Given the description of an element on the screen output the (x, y) to click on. 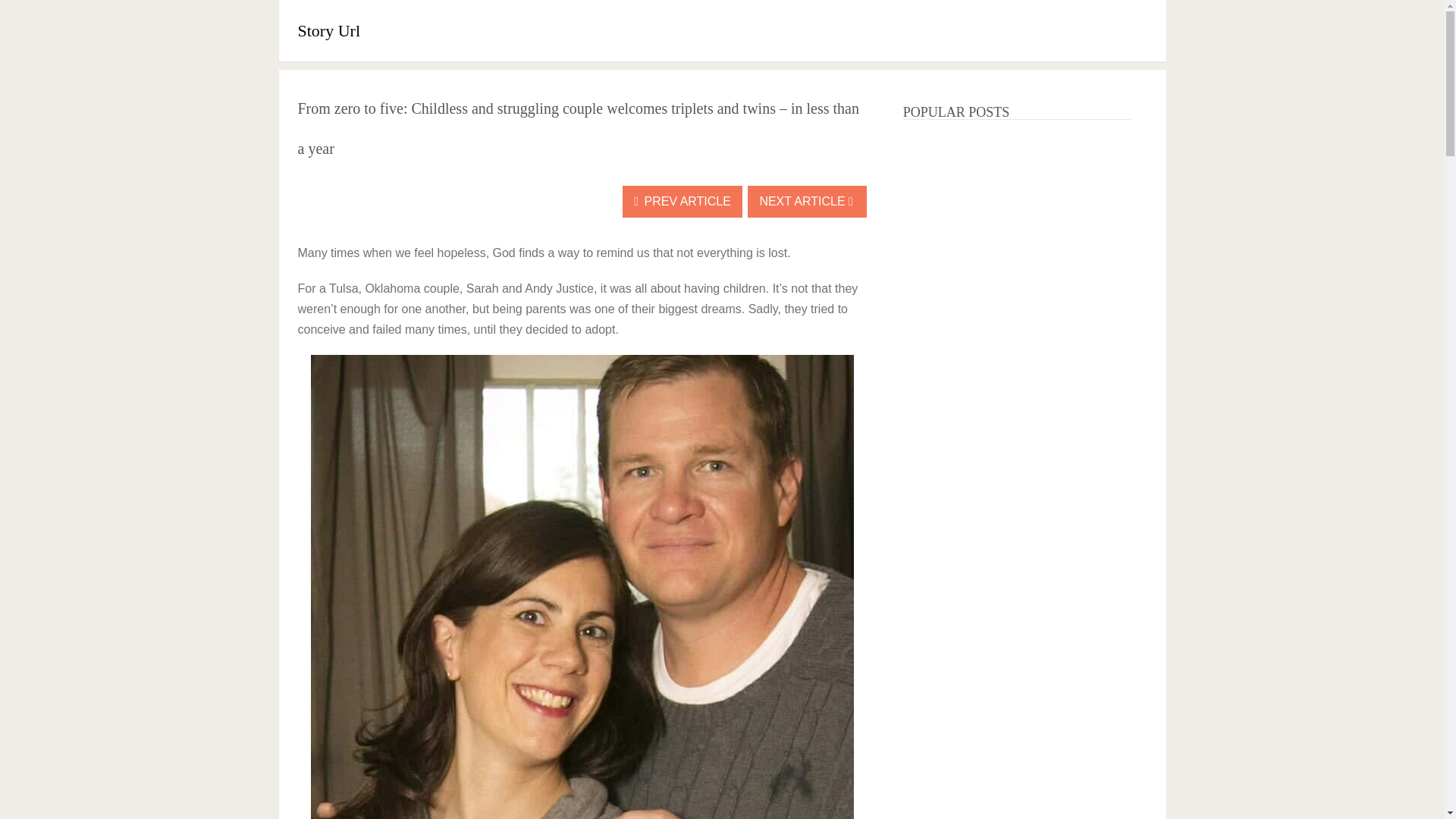
NEXT ARTICLE (807, 201)
PREV ARTICLE (682, 201)
Story Url (328, 30)
